Given the description of an element on the screen output the (x, y) to click on. 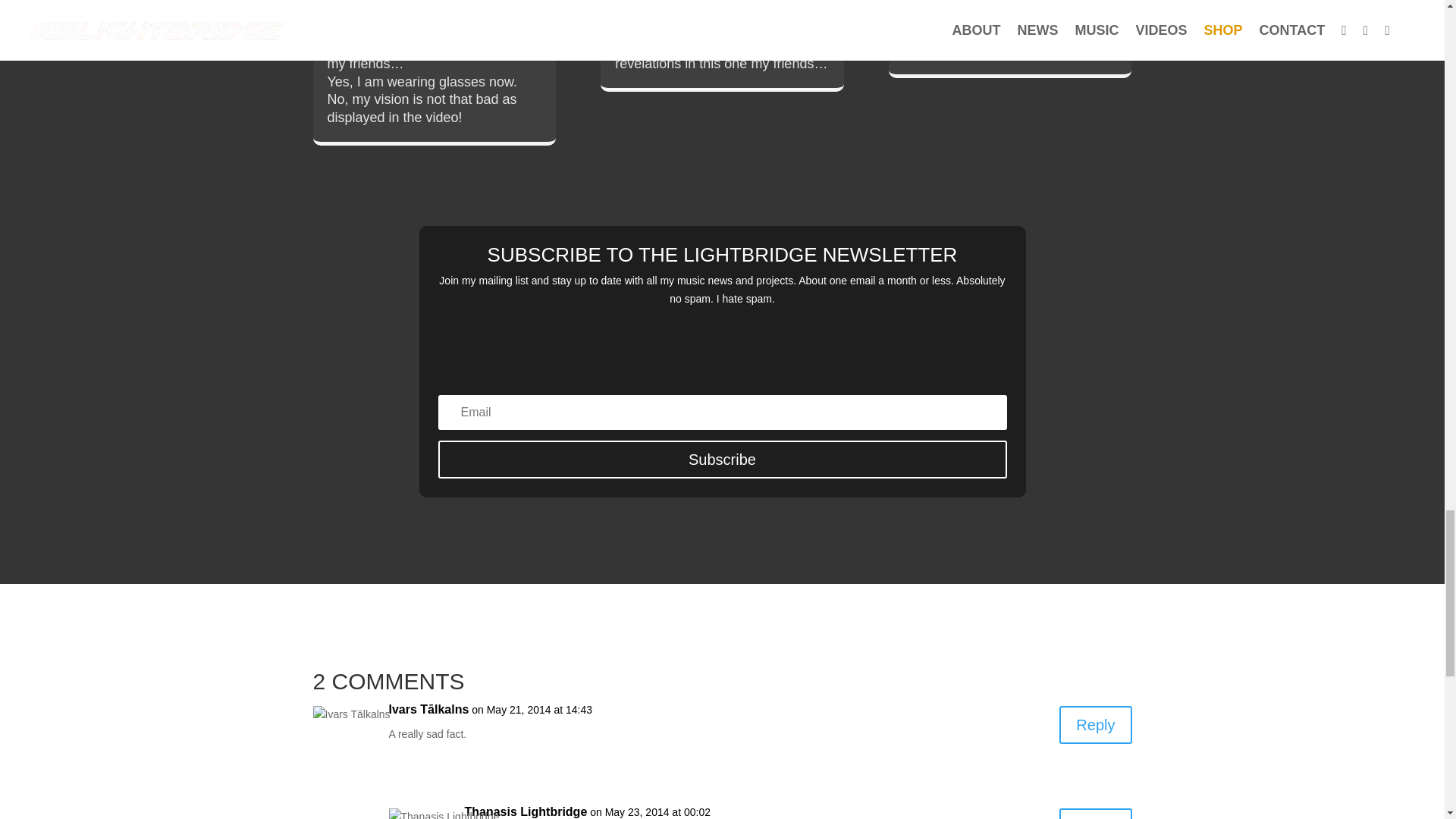
THANASIS (440, 22)
I AM A ROBOT DEFENDING MY PLANT FROM SPACE BUGS! (713, 3)
I WEAR GLASSES THAT CAN SEE GHOSTS (420, 3)
THANASIS (728, 22)
THANASIS (1019, 9)
